Given the description of an element on the screen output the (x, y) to click on. 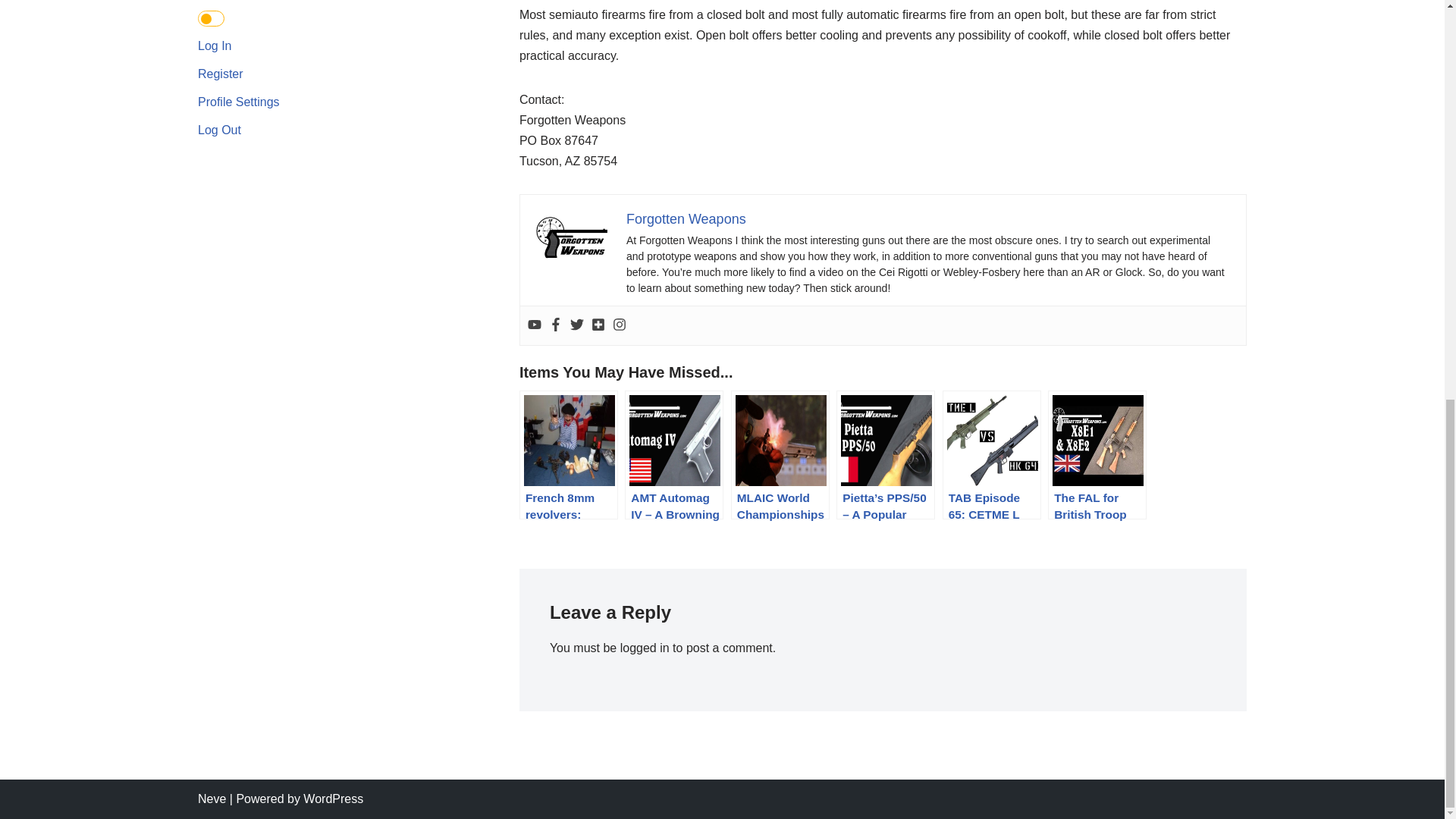
Twitter (576, 325)
Facebook (555, 325)
Profile Settings (238, 101)
Addthis (598, 325)
Log Out (219, 129)
Register (220, 73)
Instagram (619, 325)
Youtube (534, 325)
Log In (214, 45)
